Given the description of an element on the screen output the (x, y) to click on. 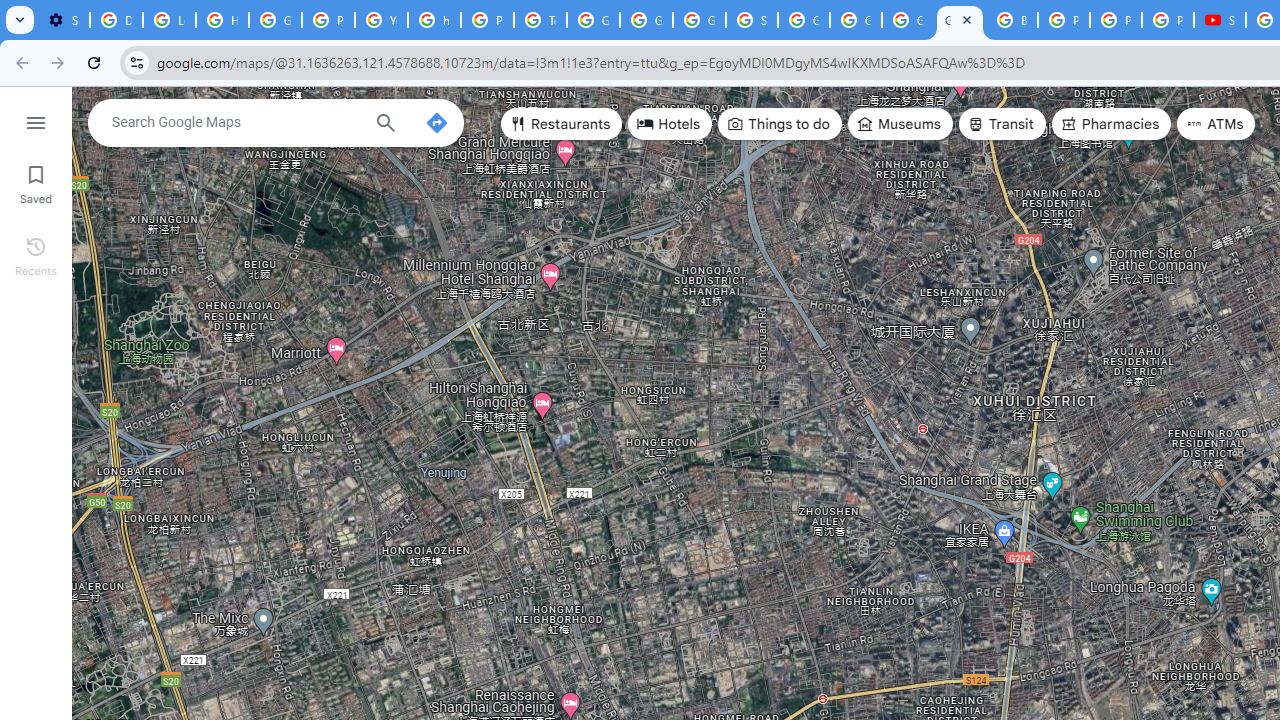
Menu (35, 120)
Hotels (670, 124)
Transit (1001, 124)
Subscriptions - YouTube (1219, 20)
YouTube (381, 20)
Pharmacies (1111, 124)
Settings - Customize profile (63, 20)
Saved (35, 182)
Museums (900, 124)
